Given the description of an element on the screen output the (x, y) to click on. 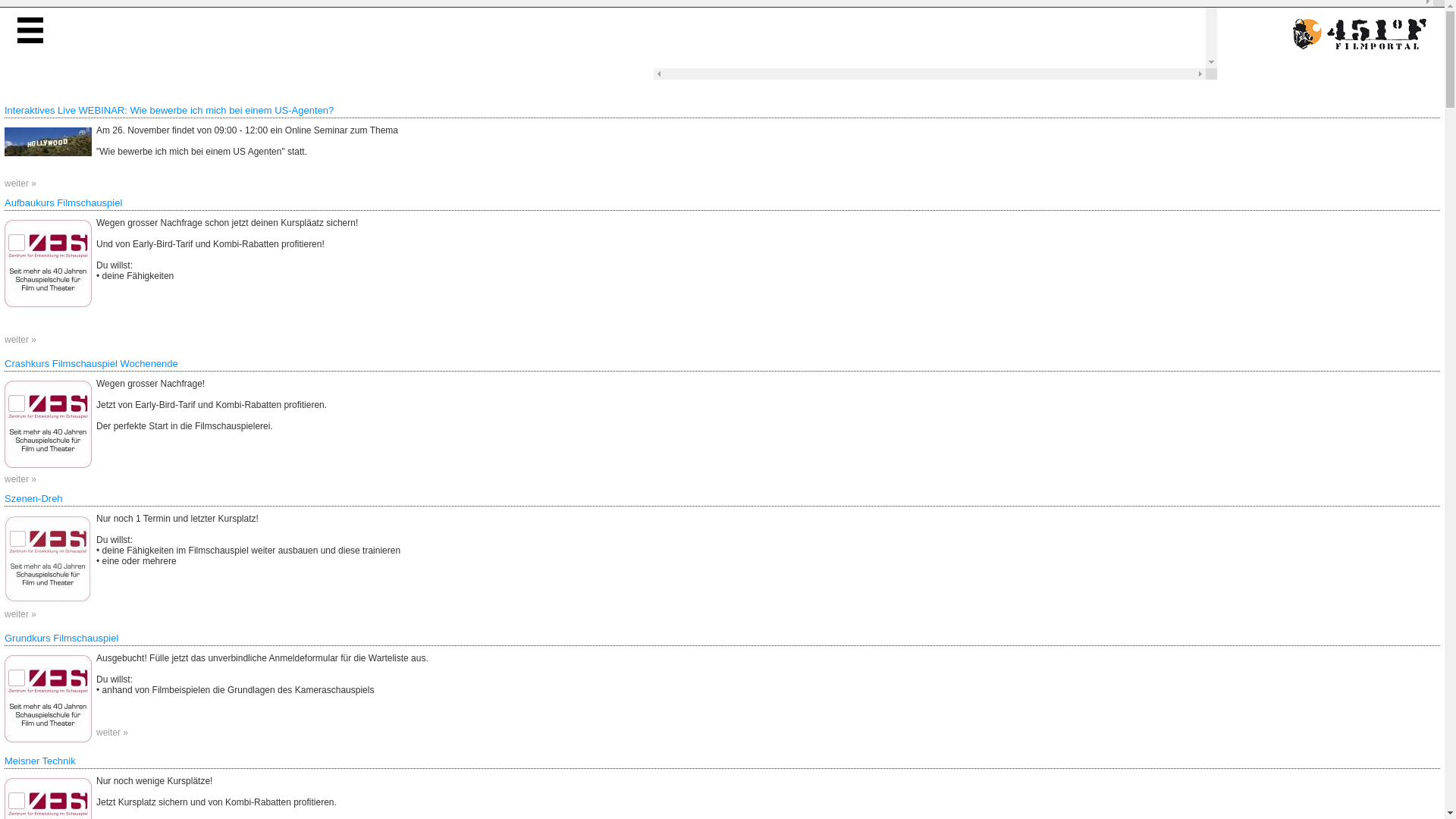
Aufbaukurs Filmschauspiel Element type: hover (47, 263)
Crashkurs Filmschauspiel Wochenende Element type: hover (47, 423)
Grundkurs Filmschauspiel Element type: hover (47, 698)
Szenen-Dreh Element type: text (33, 498)
Crashkurs Filmschauspiel Wochenende Element type: text (91, 363)
Szenen-Dreh Element type: hover (47, 558)
Aufbaukurs Filmschauspiel Element type: text (63, 202)
Meisner Technik Element type: text (39, 760)
Advertisement Element type: hover (929, 34)
Grundkurs Filmschauspiel Element type: text (61, 637)
